Given the description of an element on the screen output the (x, y) to click on. 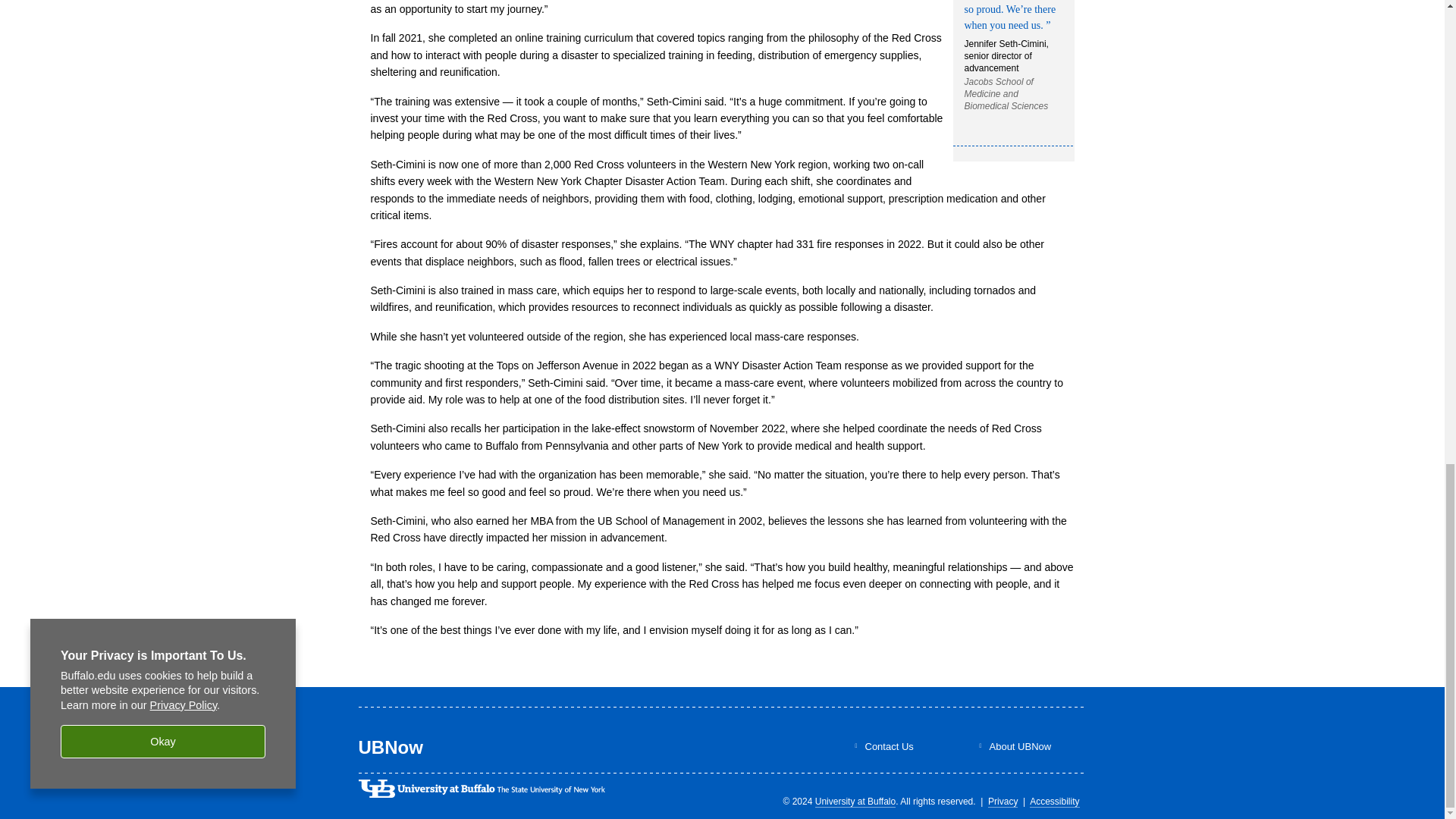
Contact Us (888, 746)
Accessibility (1053, 801)
About UBNow (1019, 746)
Privacy (1002, 801)
University at Buffalo (855, 801)
